Given the description of an element on the screen output the (x, y) to click on. 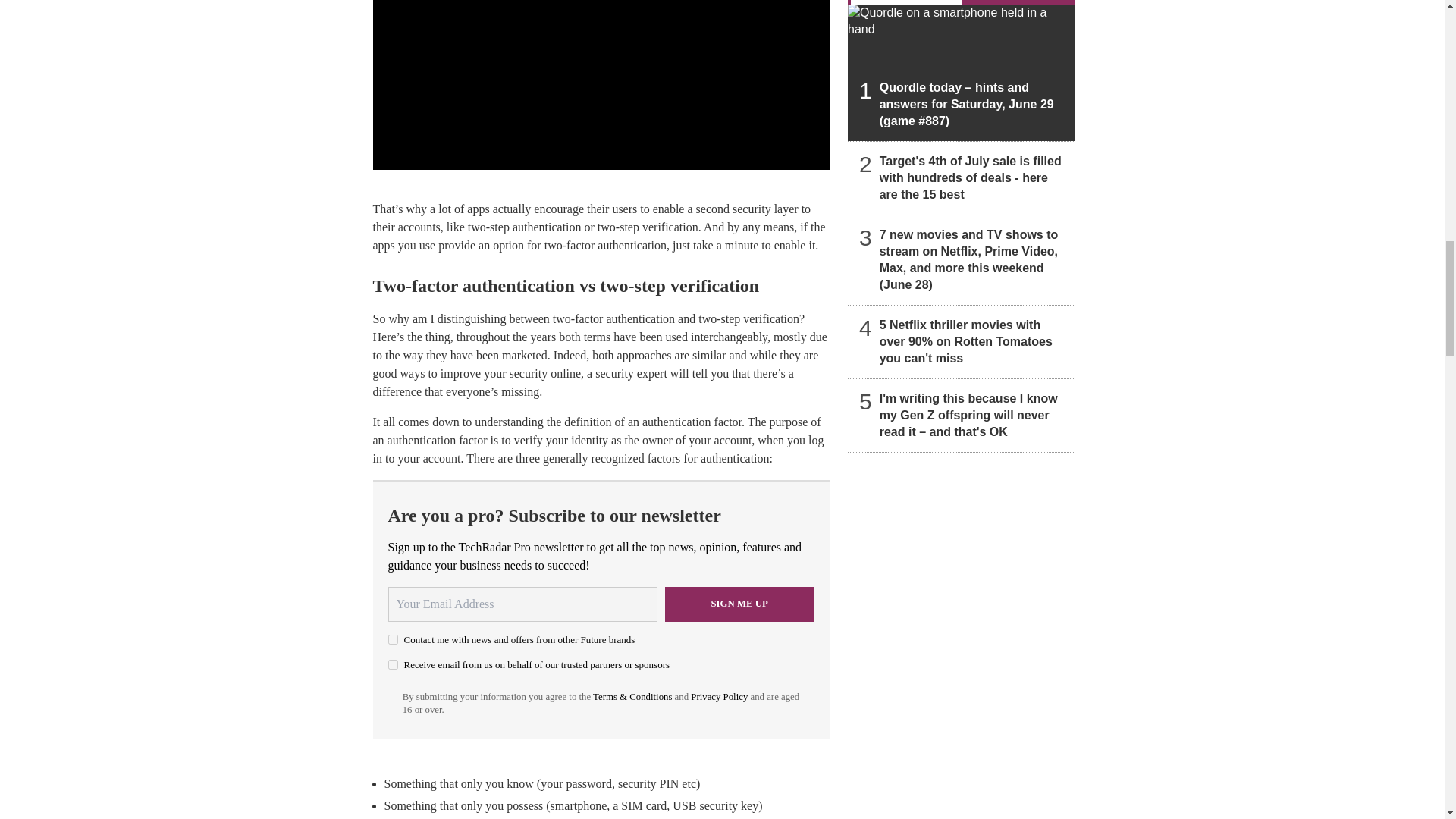
Sign me up (739, 604)
on (392, 664)
on (392, 639)
